Given the description of an element on the screen output the (x, y) to click on. 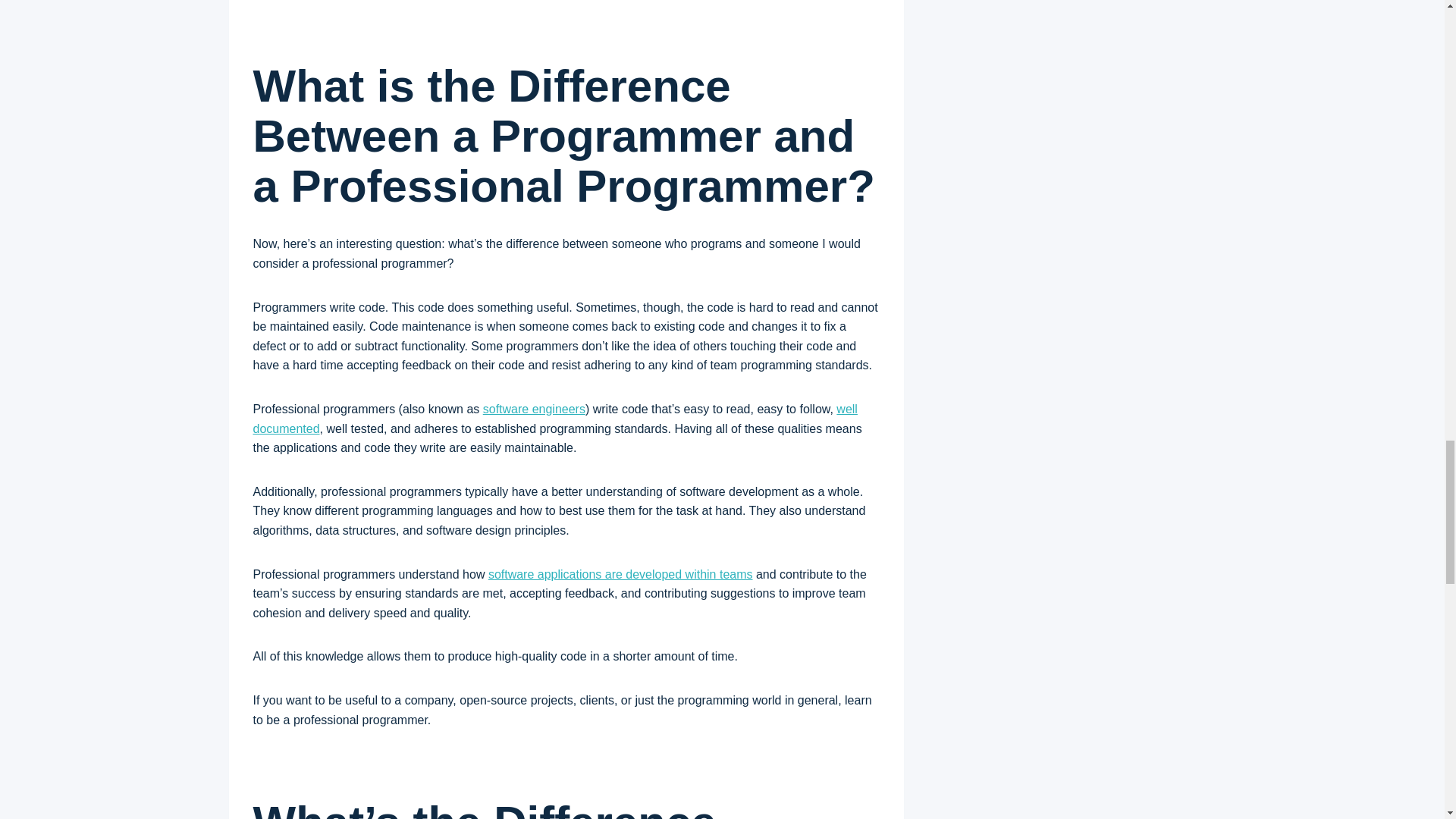
well documented (555, 418)
software applications are developed within teams (619, 574)
software engineers (534, 408)
